Given the description of an element on the screen output the (x, y) to click on. 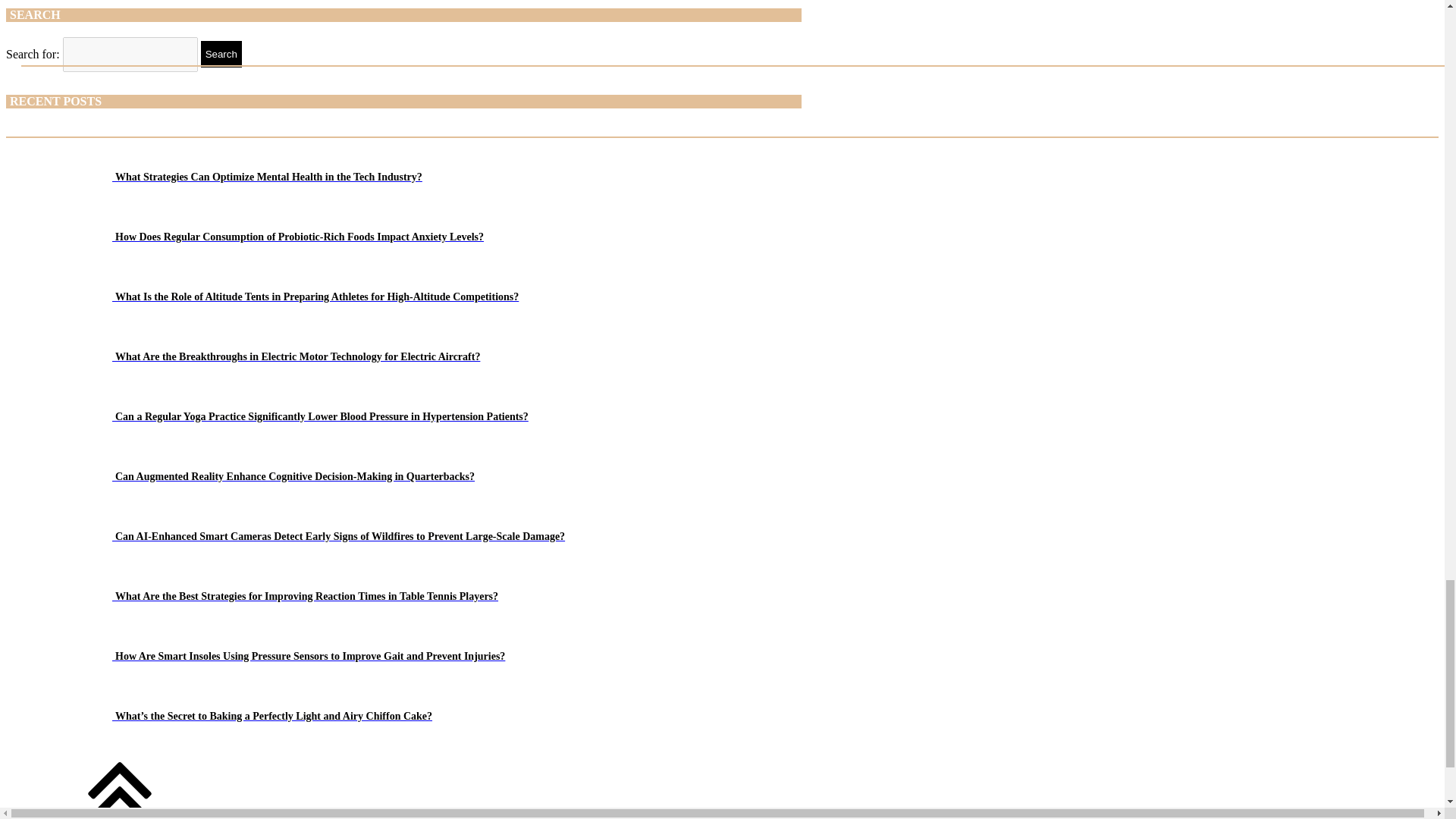
Search (220, 53)
Search (220, 53)
